Given the description of an element on the screen output the (x, y) to click on. 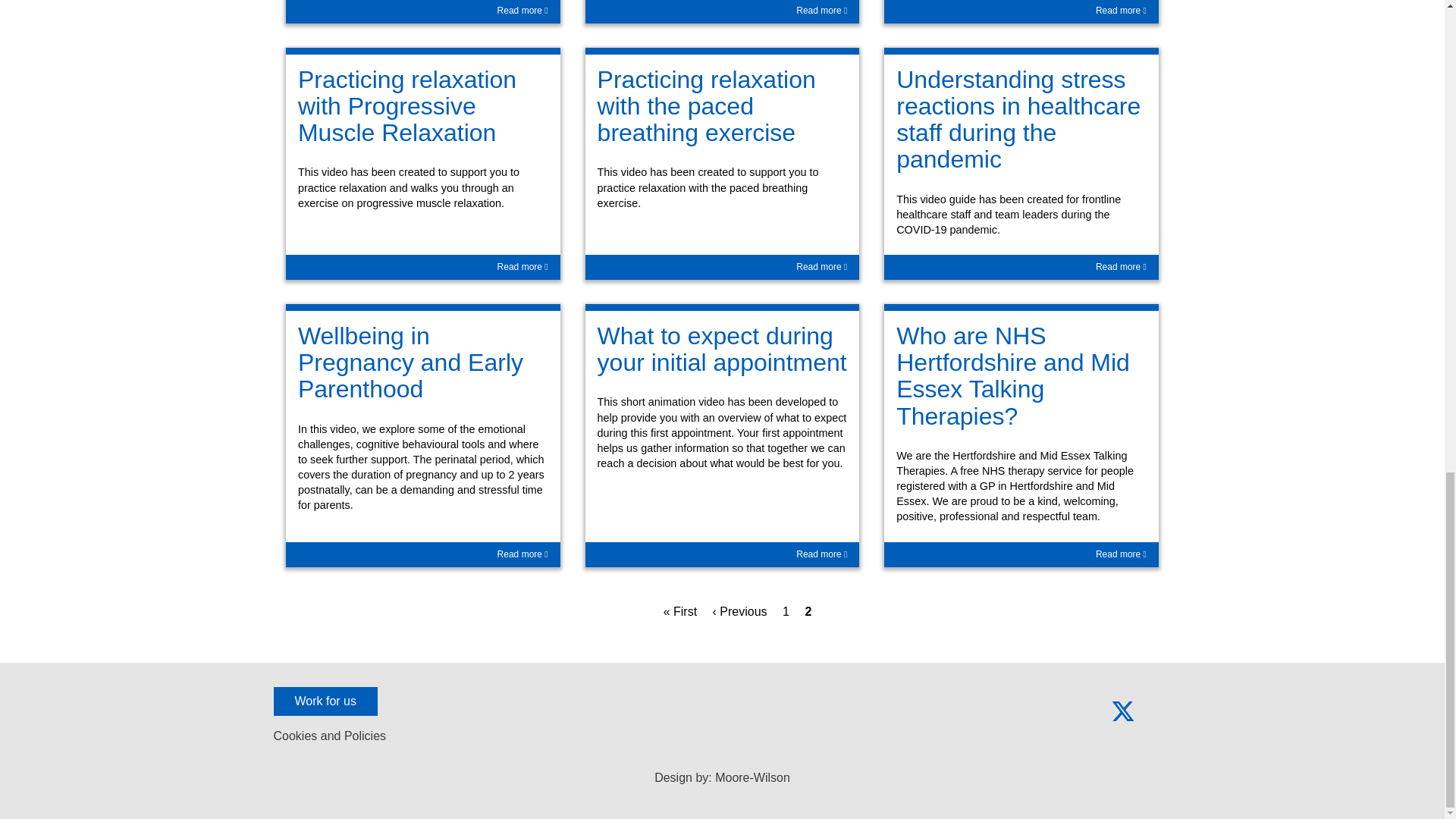
Go to previous page (741, 611)
Go to first page (681, 611)
